Given the description of an element on the screen output the (x, y) to click on. 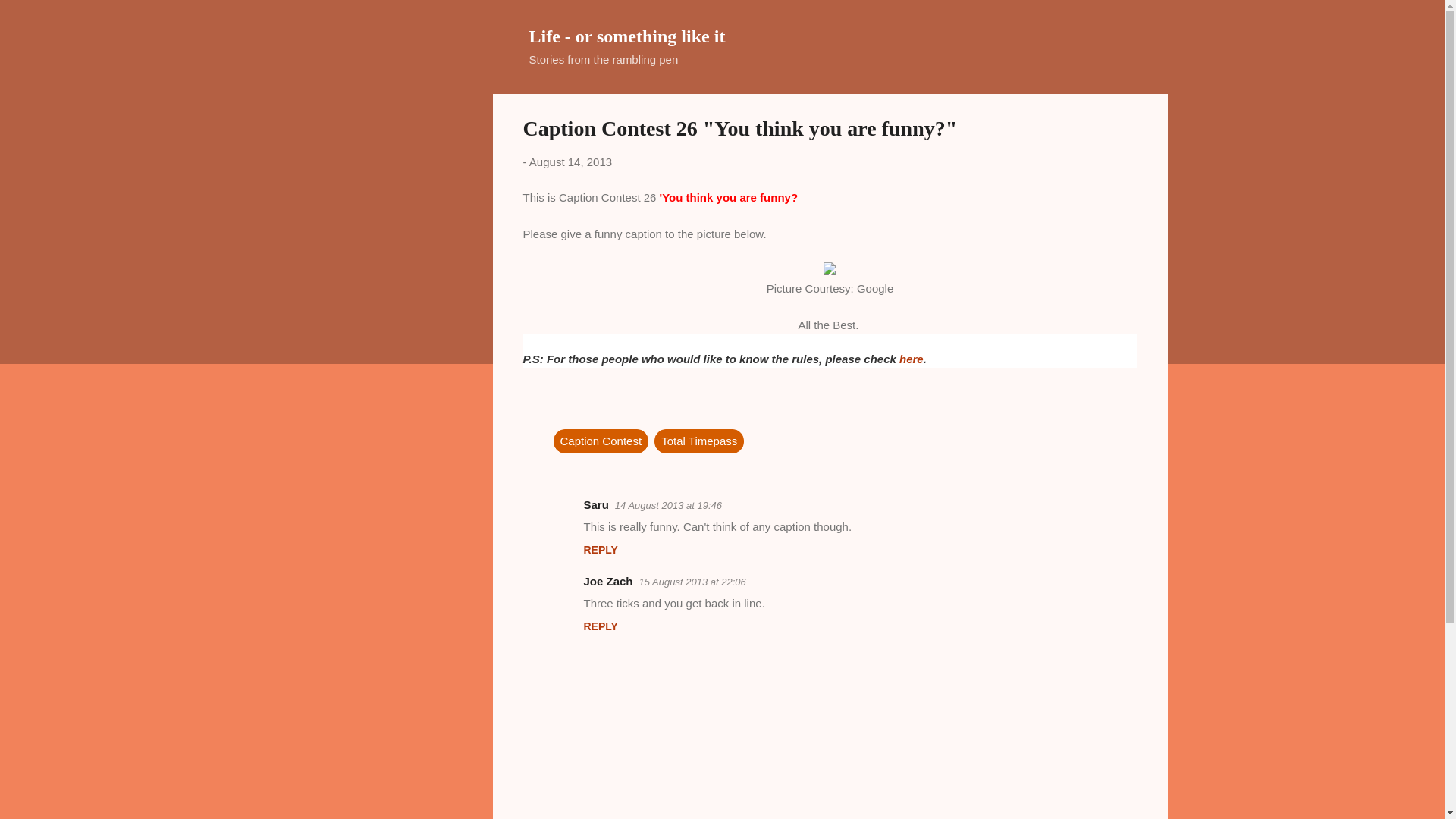
permanent link (570, 161)
14 August 2013 at 19:46 (668, 505)
Email Post (562, 410)
August 14, 2013 (570, 161)
Life - or something like it (627, 35)
here (911, 358)
REPLY (600, 549)
Caption Contest (601, 441)
15 August 2013 at 22:06 (692, 582)
Search (29, 18)
REPLY (600, 625)
Total Timepass (698, 441)
